Given the description of an element on the screen output the (x, y) to click on. 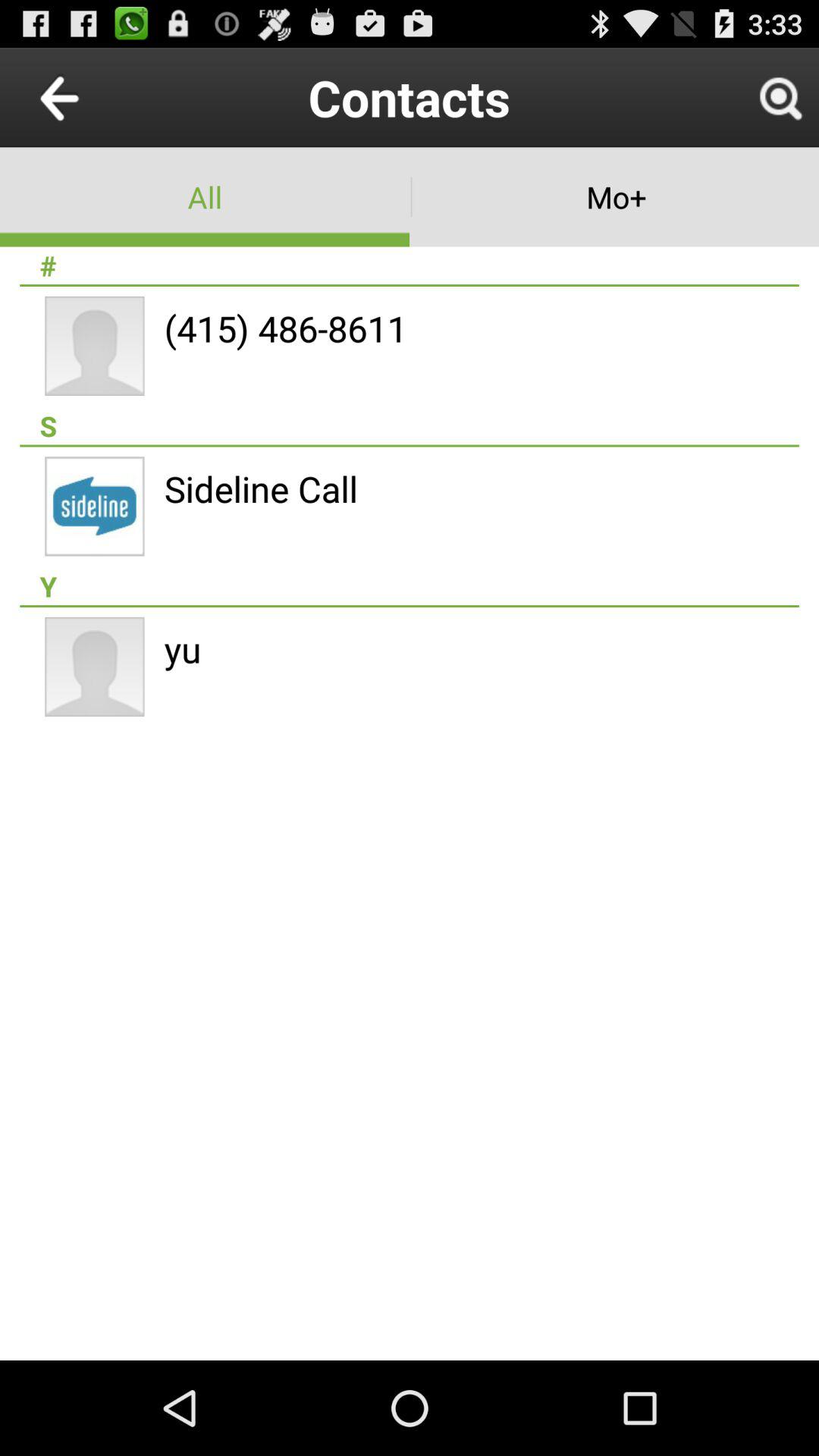
press app above the # icon (204, 196)
